Given the description of an element on the screen output the (x, y) to click on. 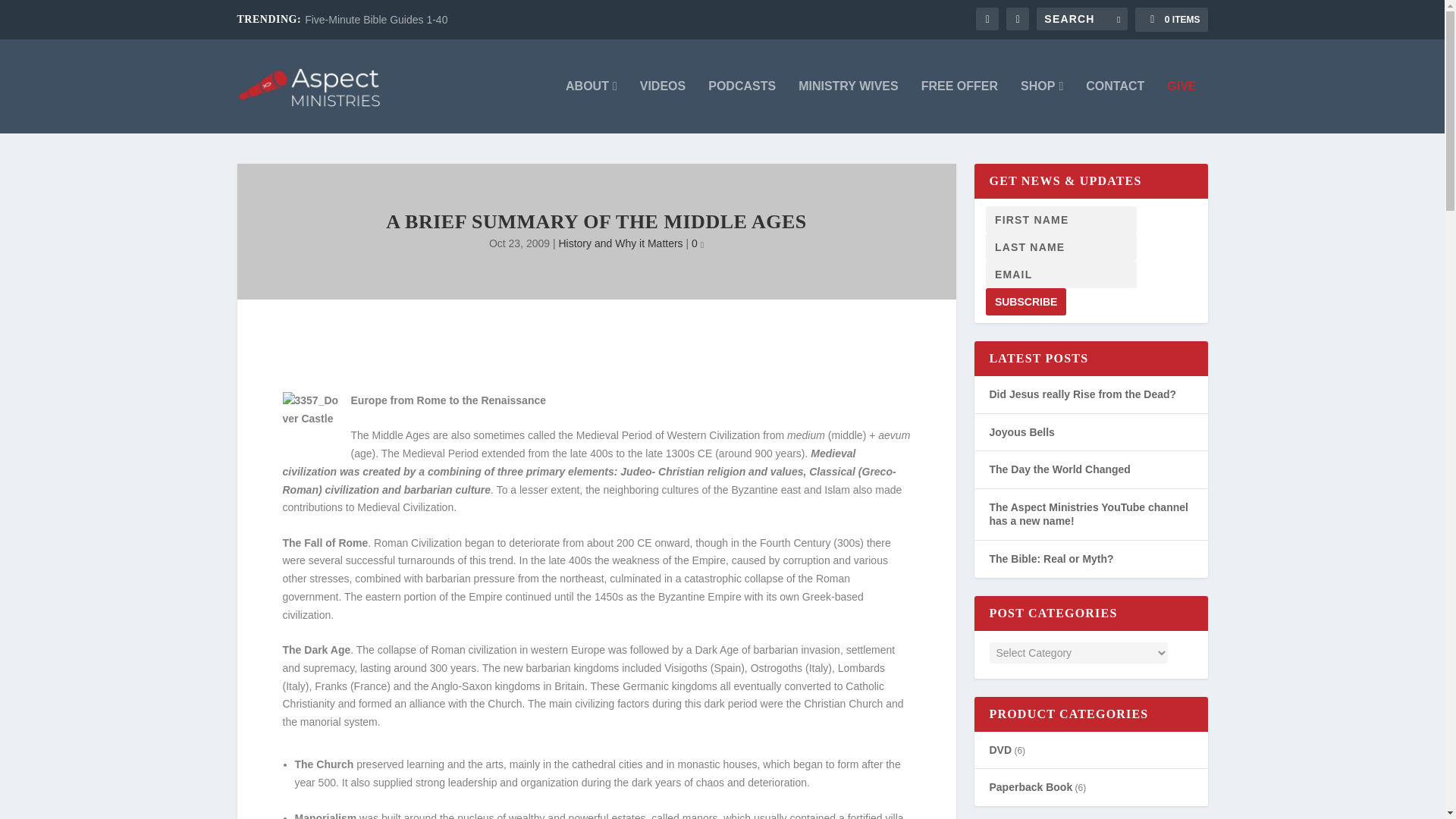
Search for: (1081, 18)
Five-Minute Bible Guides 1-40 (375, 19)
0 Items in Cart (1171, 19)
FREE OFFER (959, 106)
0 ITEMS (1171, 19)
0 (697, 243)
CONTACT (1115, 106)
ABOUT (591, 106)
MINISTRY WIVES (847, 106)
History and Why it Matters (619, 243)
